Given the description of an element on the screen output the (x, y) to click on. 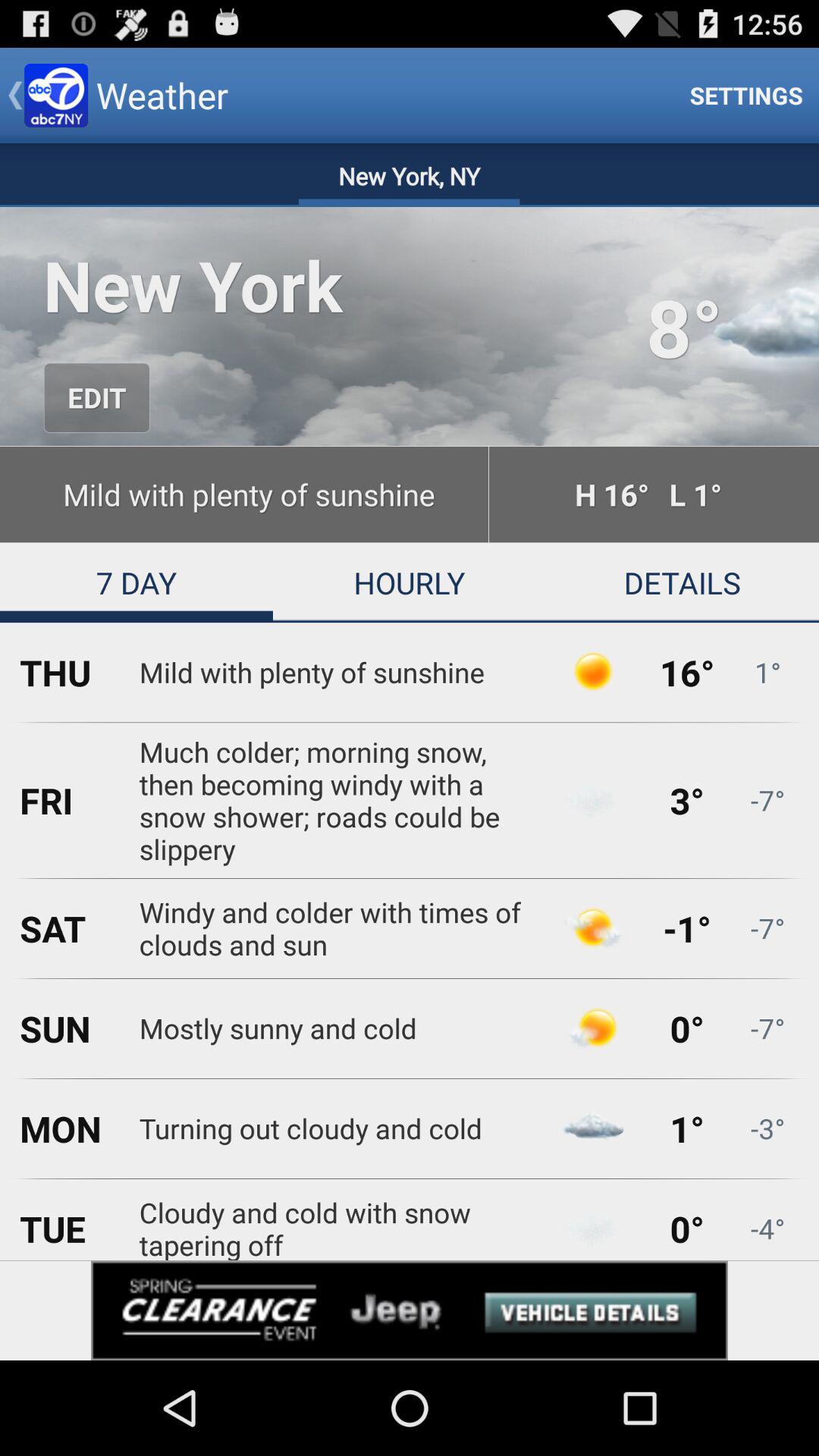
select the image which on left to weather (55, 95)
click on the icon next to mostly sunny and cold (592, 1028)
